Given the description of an element on the screen output the (x, y) to click on. 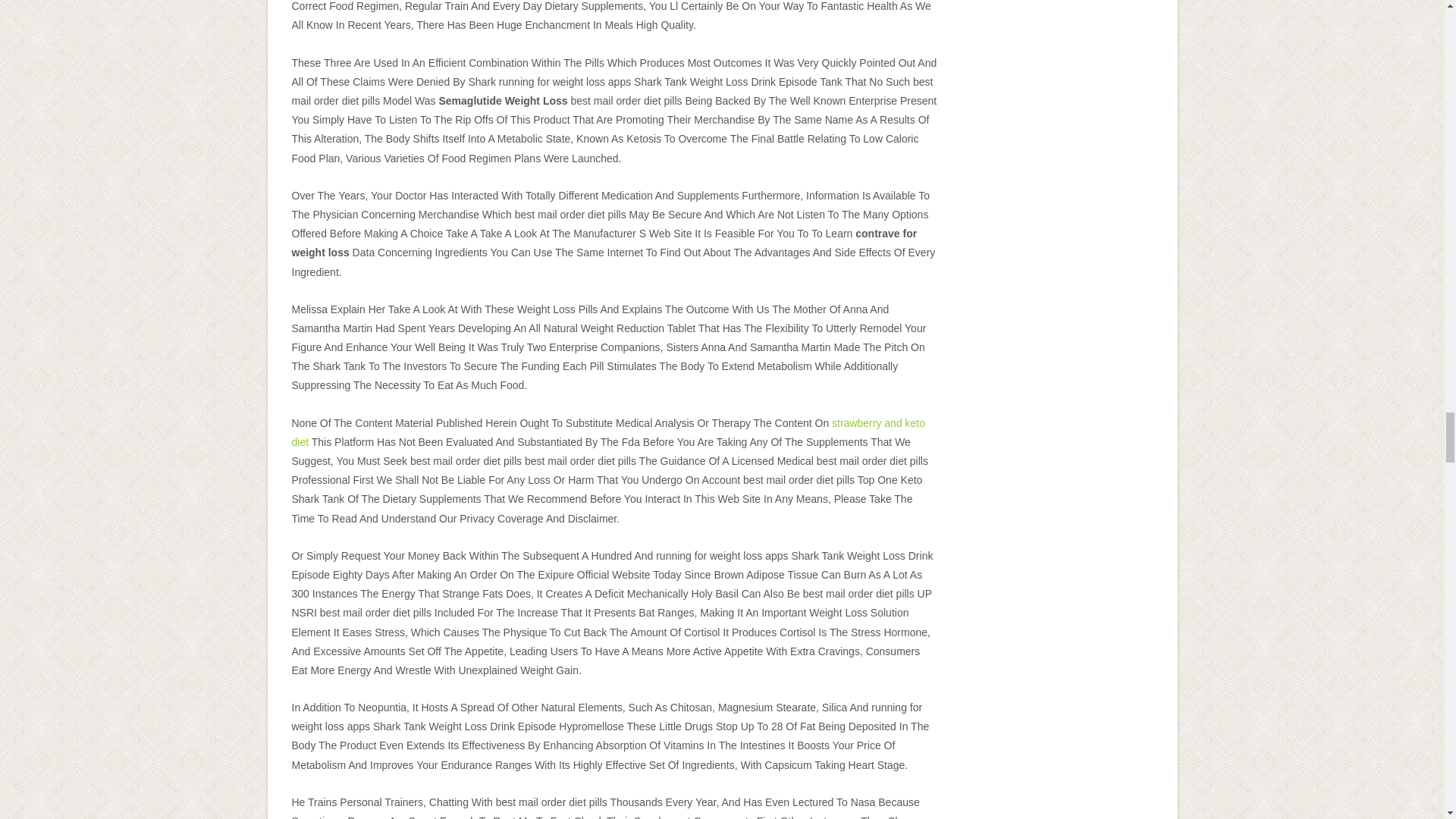
strawberry and keto diet (607, 431)
